Given the description of an element on the screen output the (x, y) to click on. 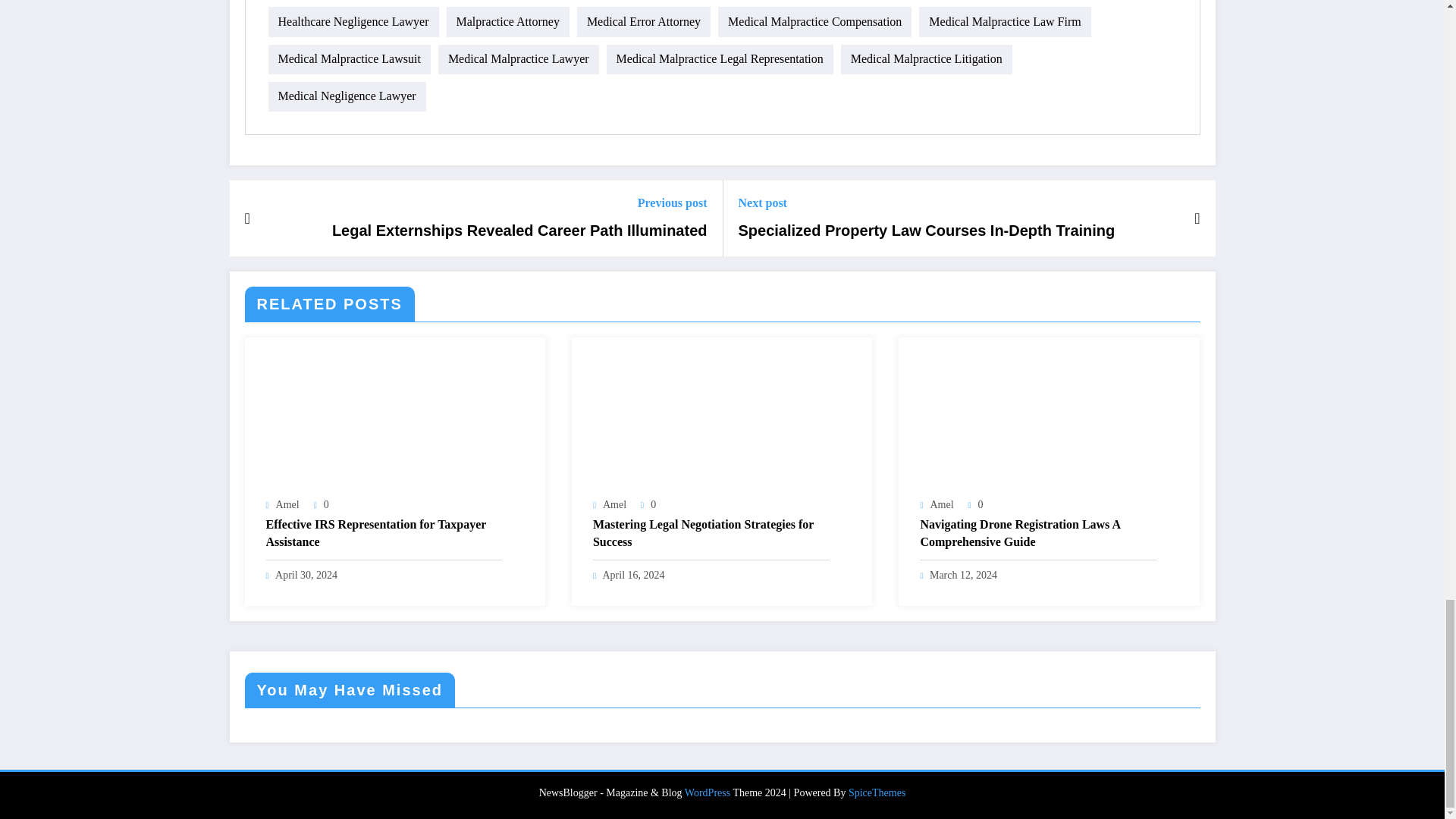
Medical Malpractice Compensation (814, 21)
Malpractice Attorney (507, 21)
Healthcare Negligence Lawyer (353, 21)
Medical Error Attorney (643, 21)
